Given the description of an element on the screen output the (x, y) to click on. 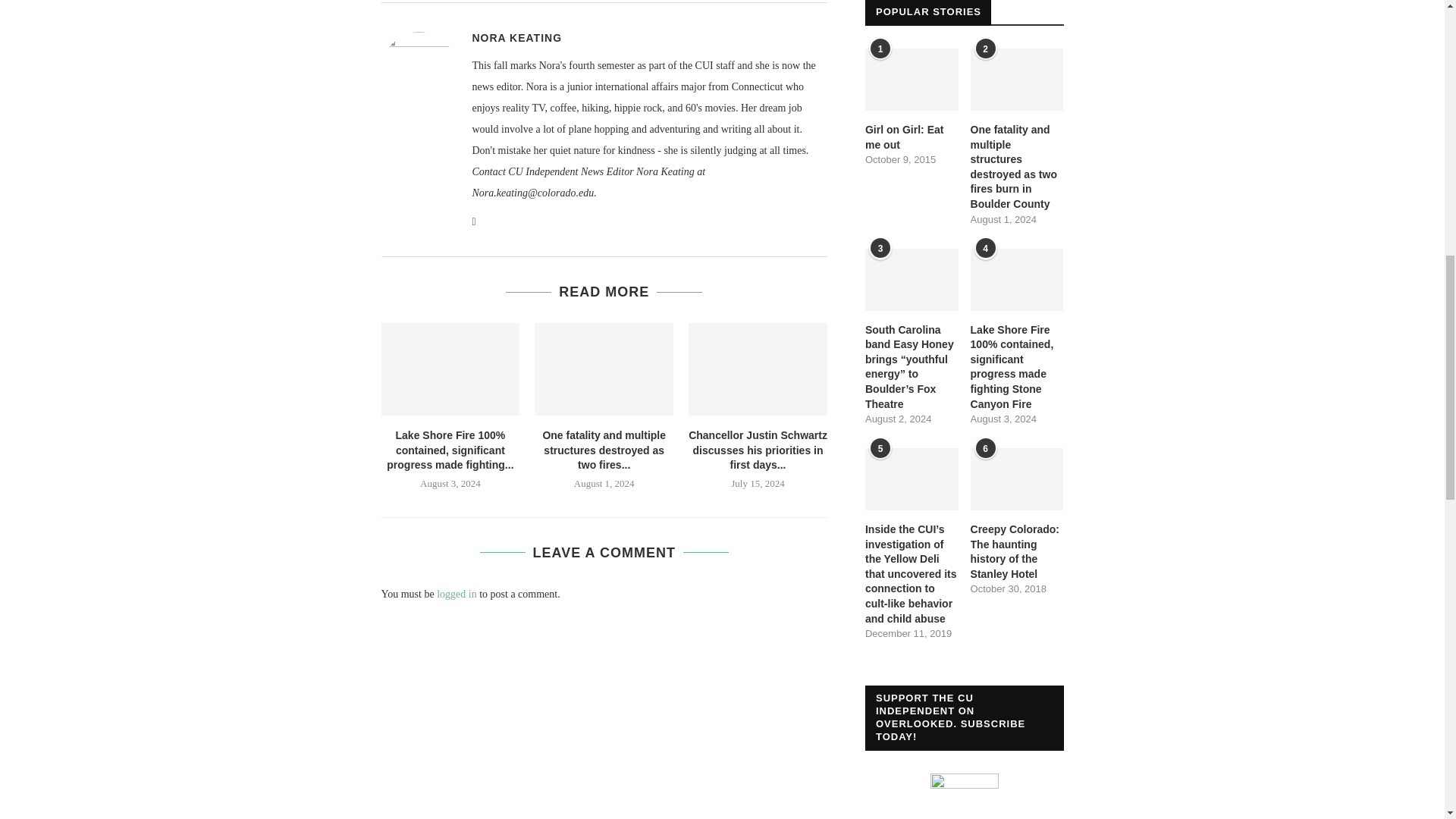
Girl on Girl: Eat me out (911, 79)
Posts by Nora Keating (516, 37)
Girl on Girl: Eat me out (911, 137)
